Given the description of an element on the screen output the (x, y) to click on. 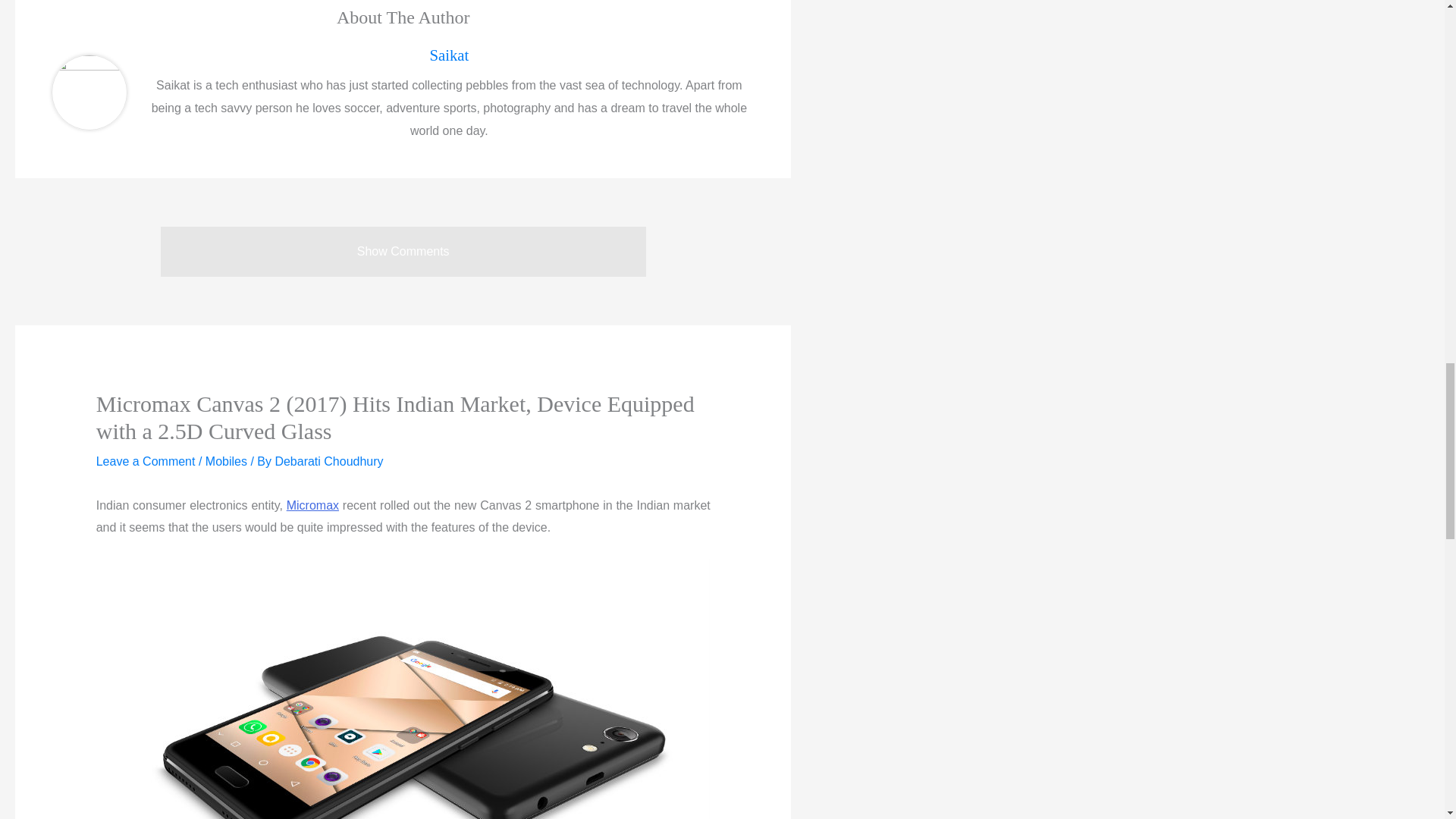
View all posts by Debarati Choudhury (328, 461)
